Given the description of an element on the screen output the (x, y) to click on. 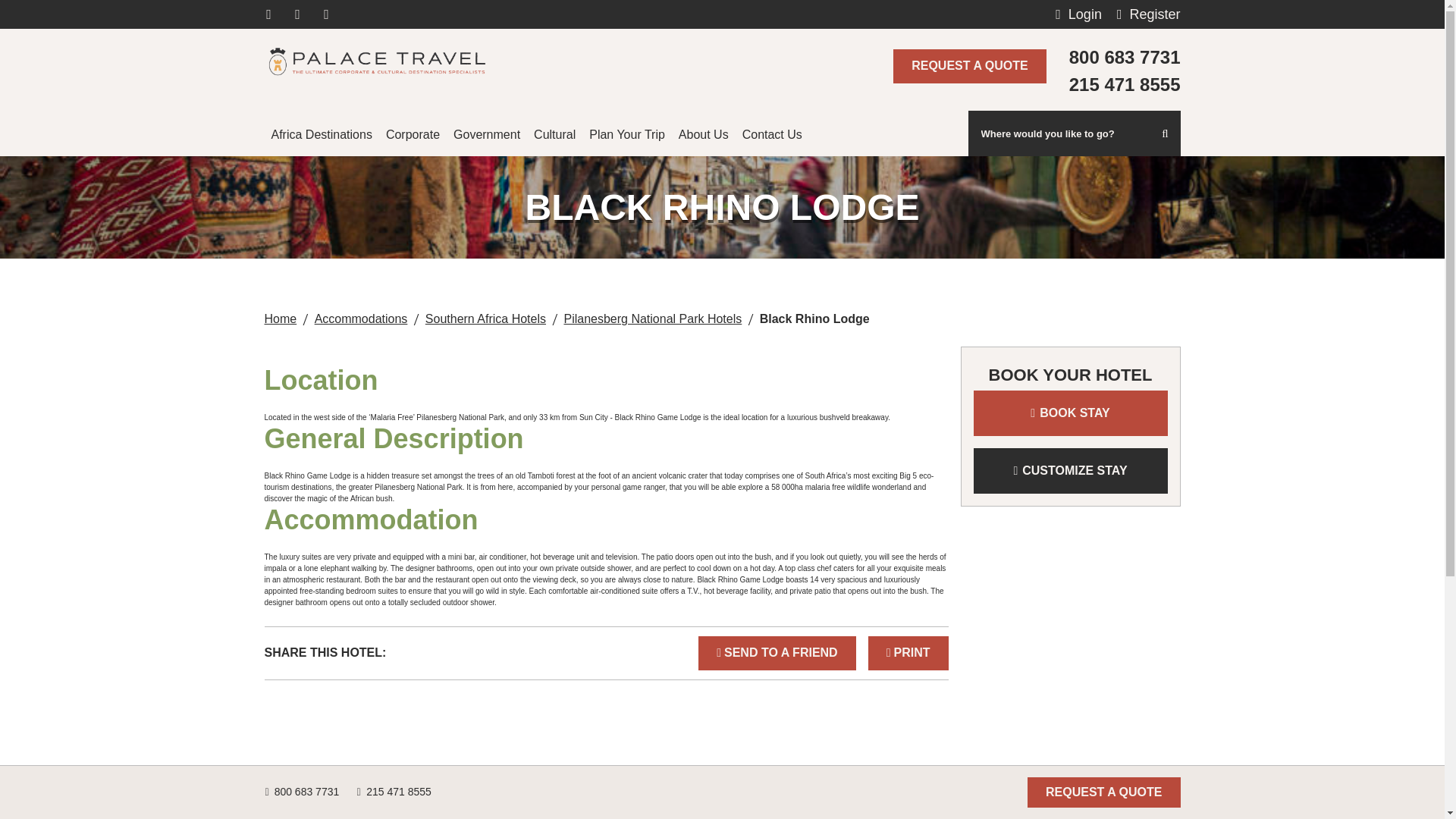
800 683 7731 (1124, 57)
Africa Destinations (320, 133)
215 471 8555 (1124, 84)
Pinterest (325, 14)
Twitter (296, 14)
REQUEST A QUOTE (969, 65)
Login (1078, 14)
Facebook (268, 14)
Register (1148, 14)
